Given the description of an element on the screen output the (x, y) to click on. 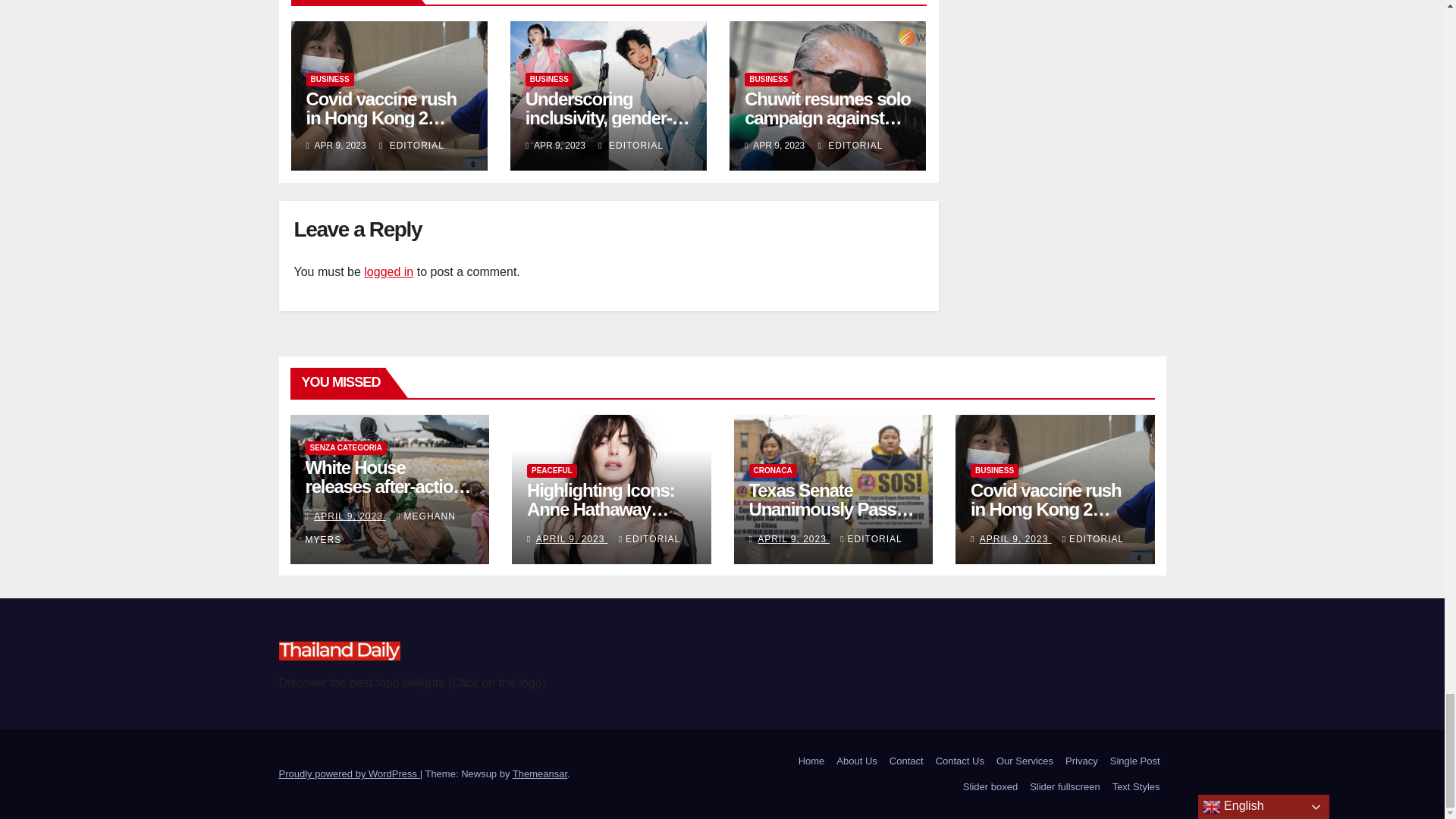
EDITORIAL (630, 145)
BUSINESS (768, 79)
BUSINESS (329, 79)
BUSINESS (549, 79)
EDITORIAL (411, 145)
